Given the description of an element on the screen output the (x, y) to click on. 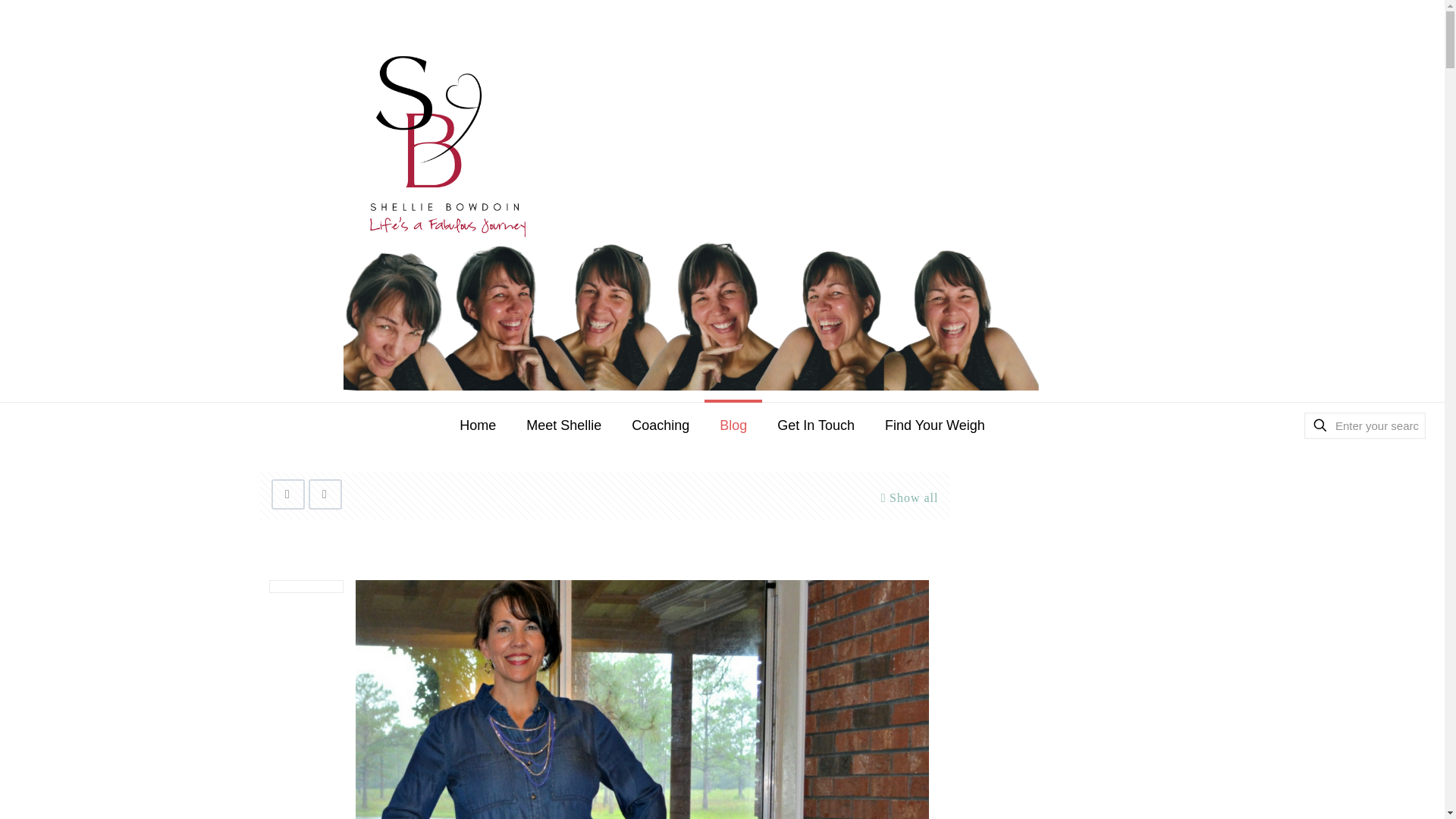
Show all (907, 497)
Coaching (659, 424)
Blog (732, 424)
Get In Touch (815, 424)
Meet Shellie (563, 424)
Home (477, 424)
Find Your Weigh (934, 424)
